Given the description of an element on the screen output the (x, y) to click on. 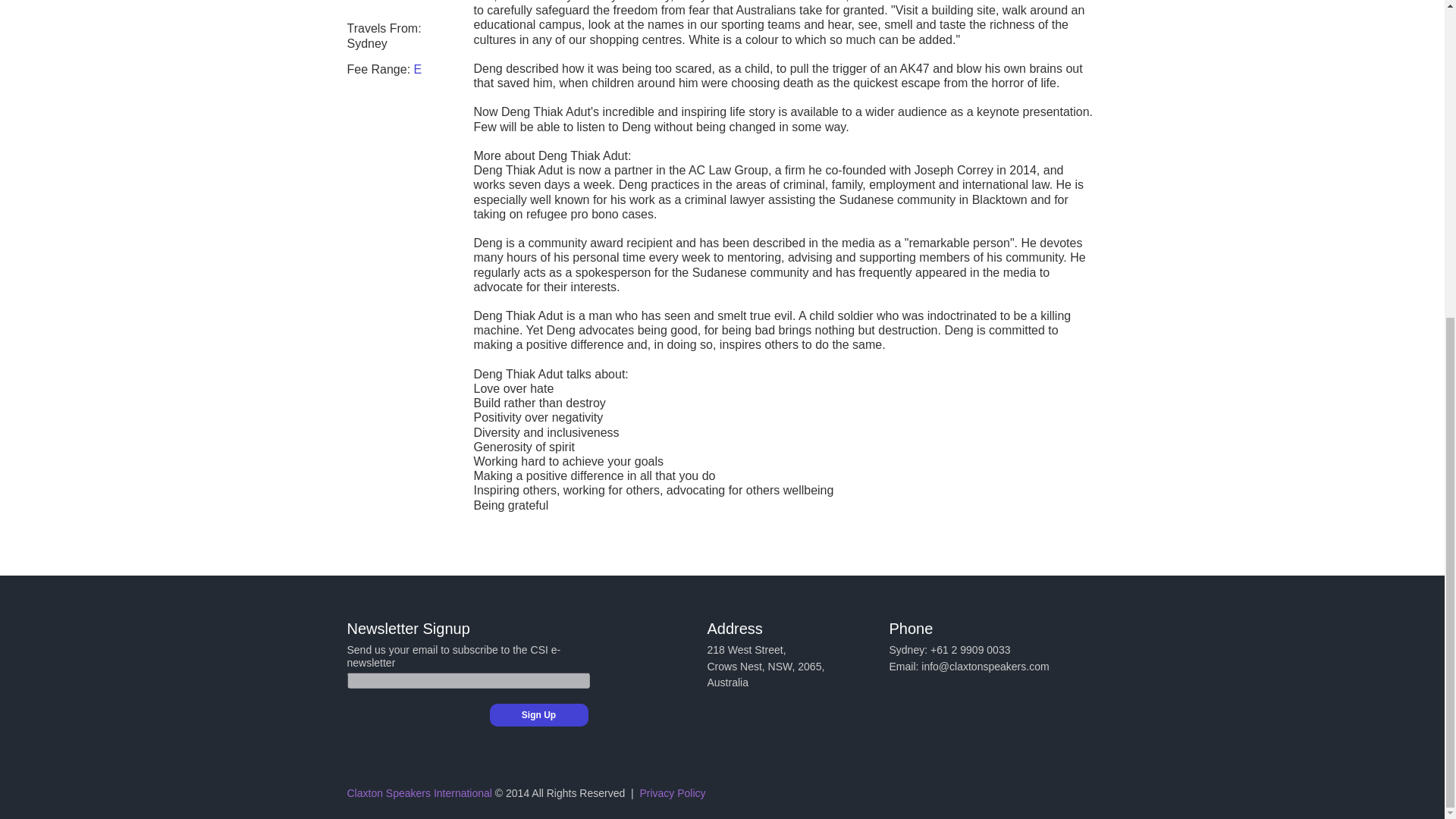
Sign Up (538, 714)
Sign Up (538, 714)
Privacy Policy (671, 793)
Claxton Speakers International (419, 793)
